Given the description of an element on the screen output the (x, y) to click on. 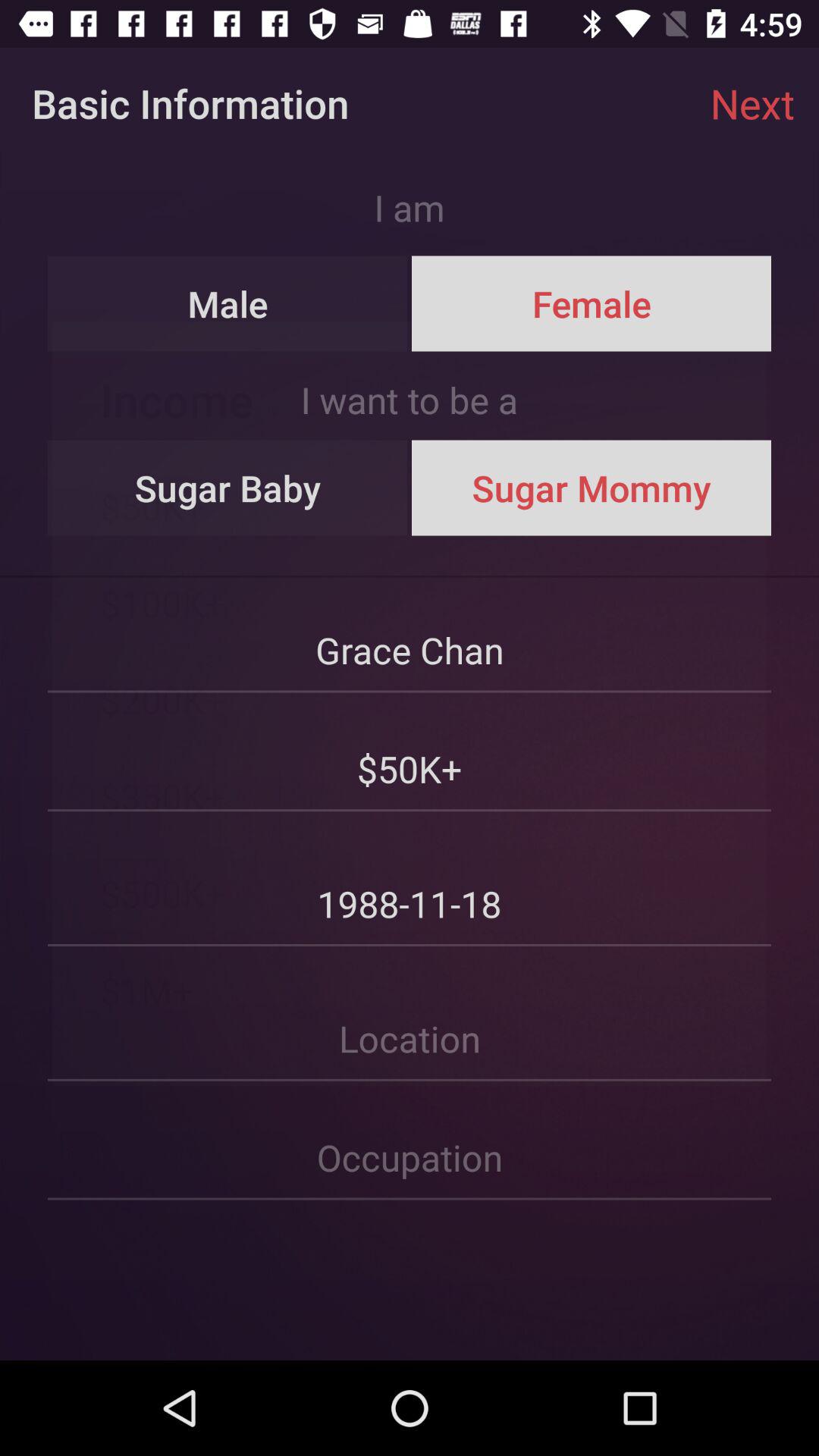
flip until next icon (752, 103)
